Given the description of an element on the screen output the (x, y) to click on. 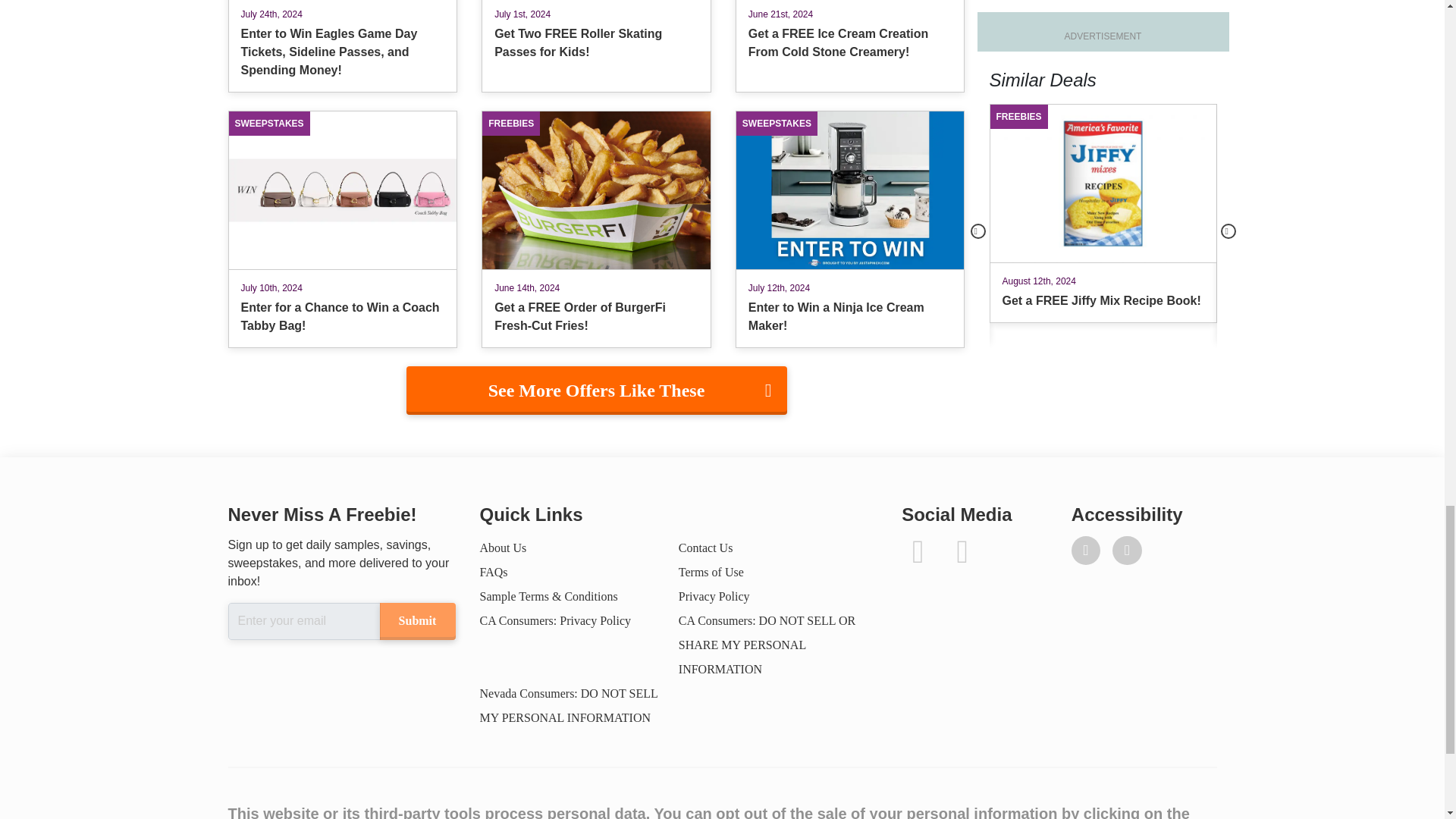
About Us (502, 547)
See More Offers Like These (596, 390)
Contact Us (705, 547)
Terms of Use (711, 571)
Submit (416, 620)
